Given the description of an element on the screen output the (x, y) to click on. 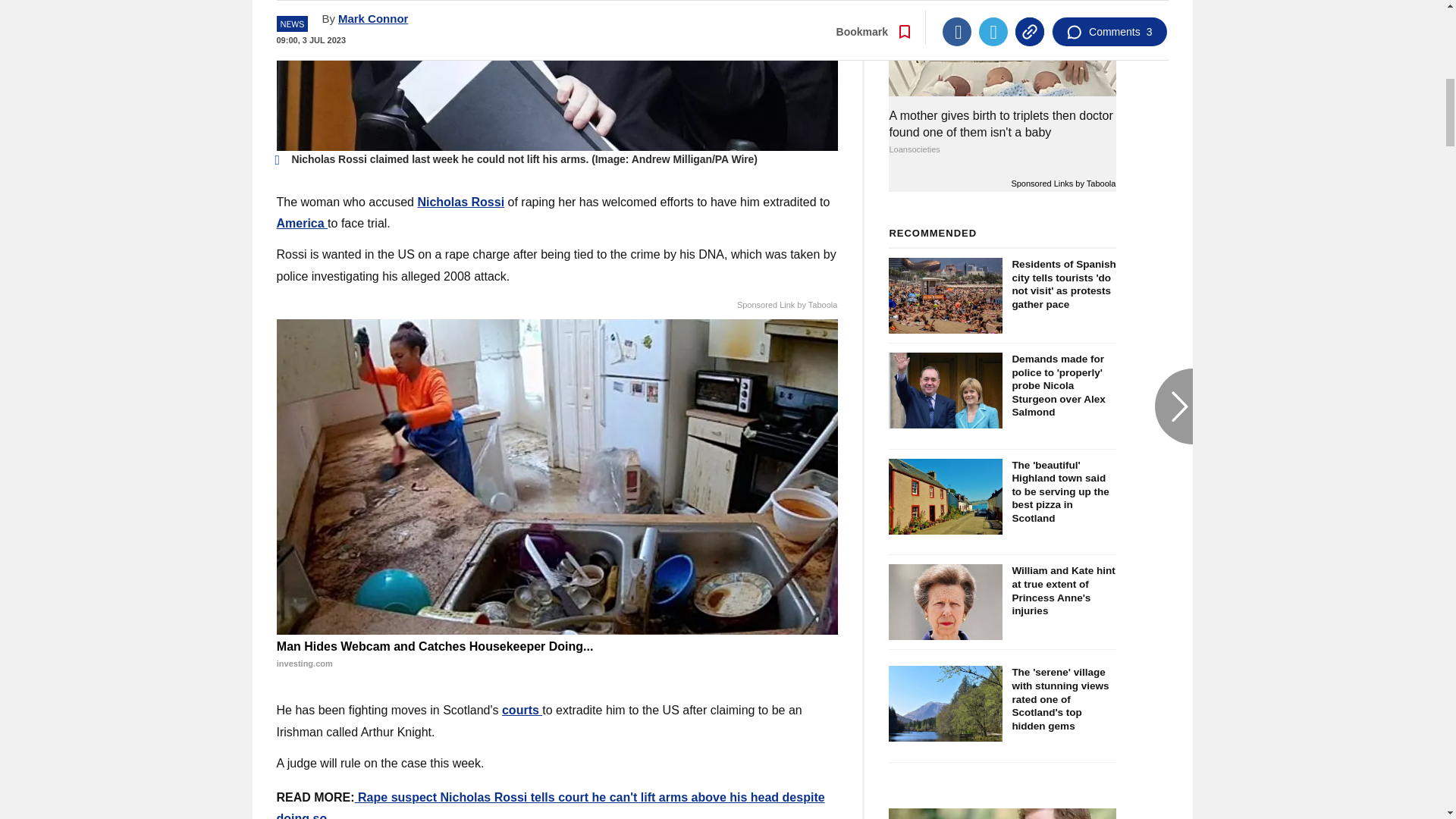
Man Hides Webcam and Catches Housekeeper Doing... (557, 654)
